Given the description of an element on the screen output the (x, y) to click on. 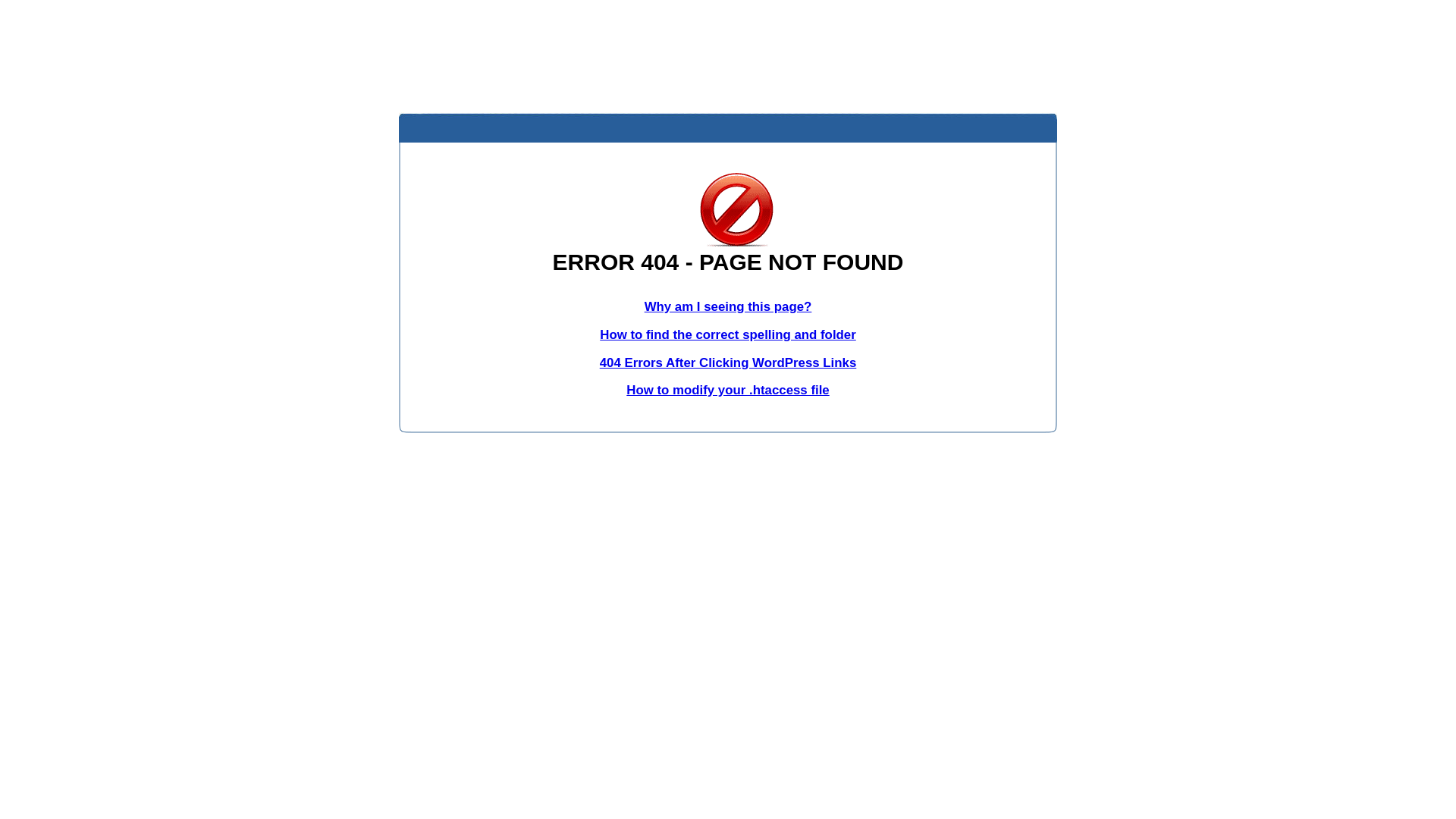
404 Errors After Clicking WordPress Links Element type: text (727, 362)
How to find the correct spelling and folder Element type: text (727, 334)
Why am I seeing this page? Element type: text (728, 306)
How to modify your .htaccess file Element type: text (727, 389)
